Given the description of an element on the screen output the (x, y) to click on. 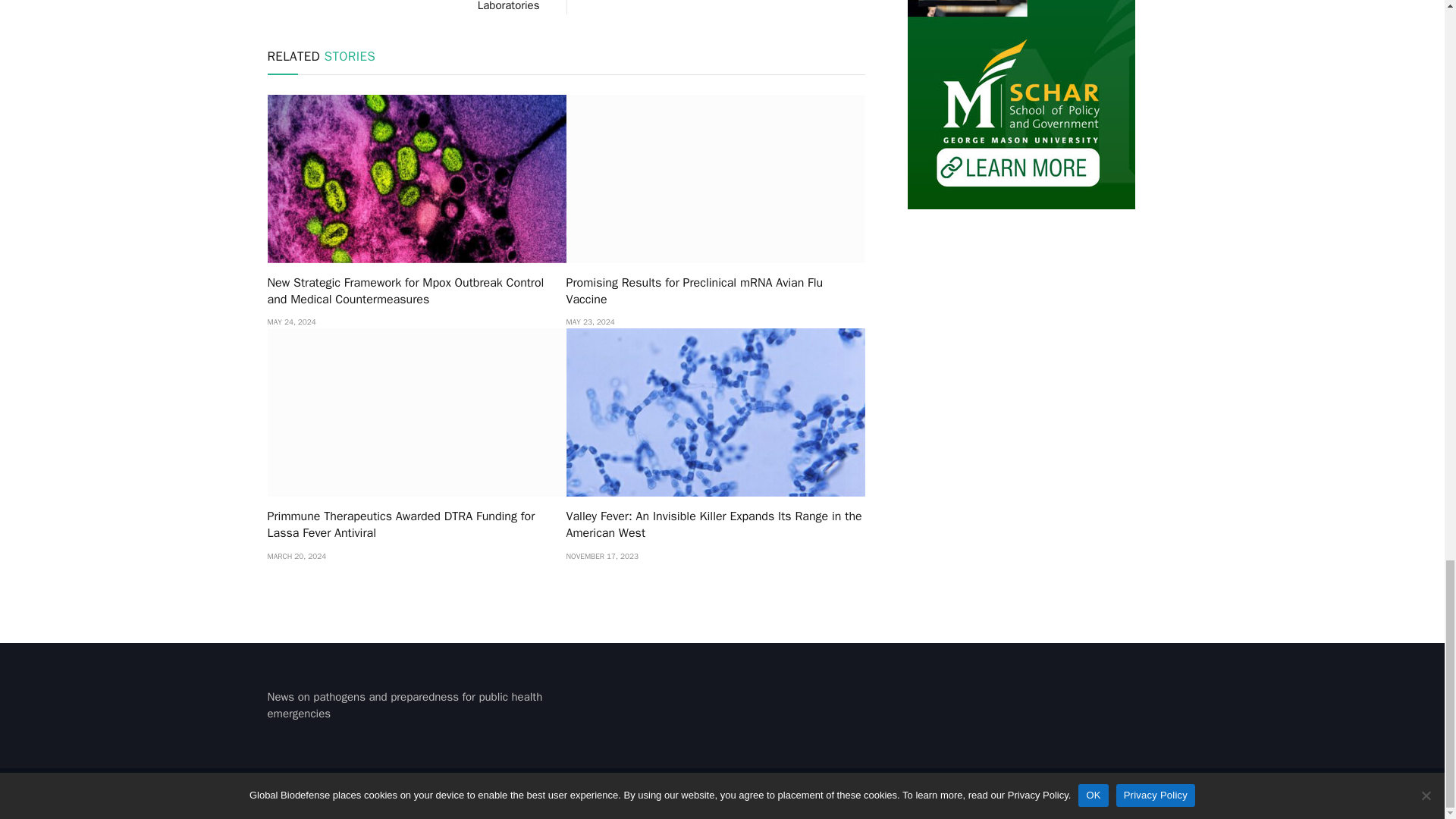
Quality Training for BSL-4 Biocontainment Laboratories (436, 6)
